Given the description of an element on the screen output the (x, y) to click on. 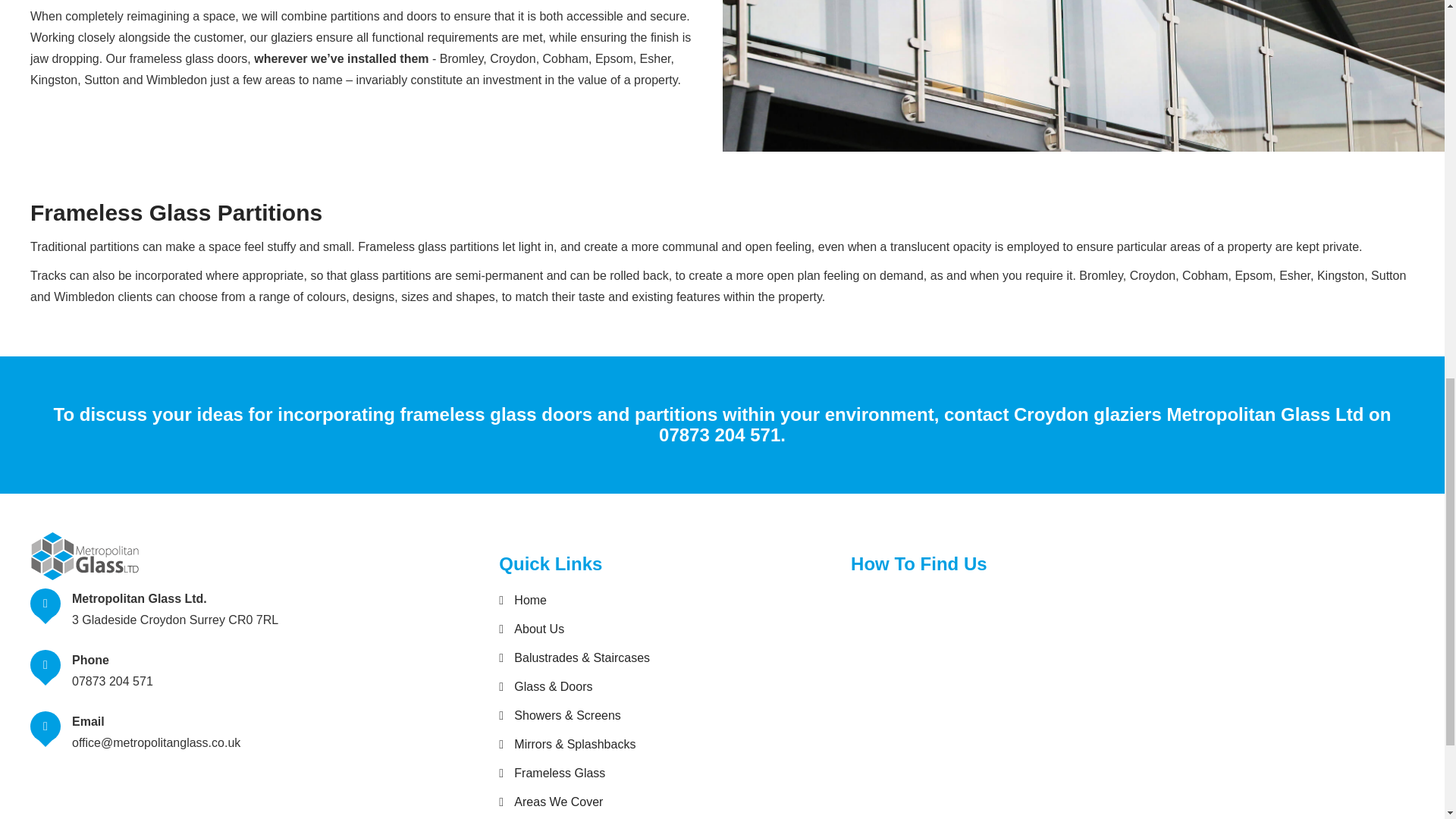
Contact Us (536, 817)
About Us (531, 629)
07873 204 571 (719, 435)
Home (523, 600)
Frameless Glass (552, 773)
07873 204 571 (111, 680)
Areas We Cover (550, 801)
